Given the description of an element on the screen output the (x, y) to click on. 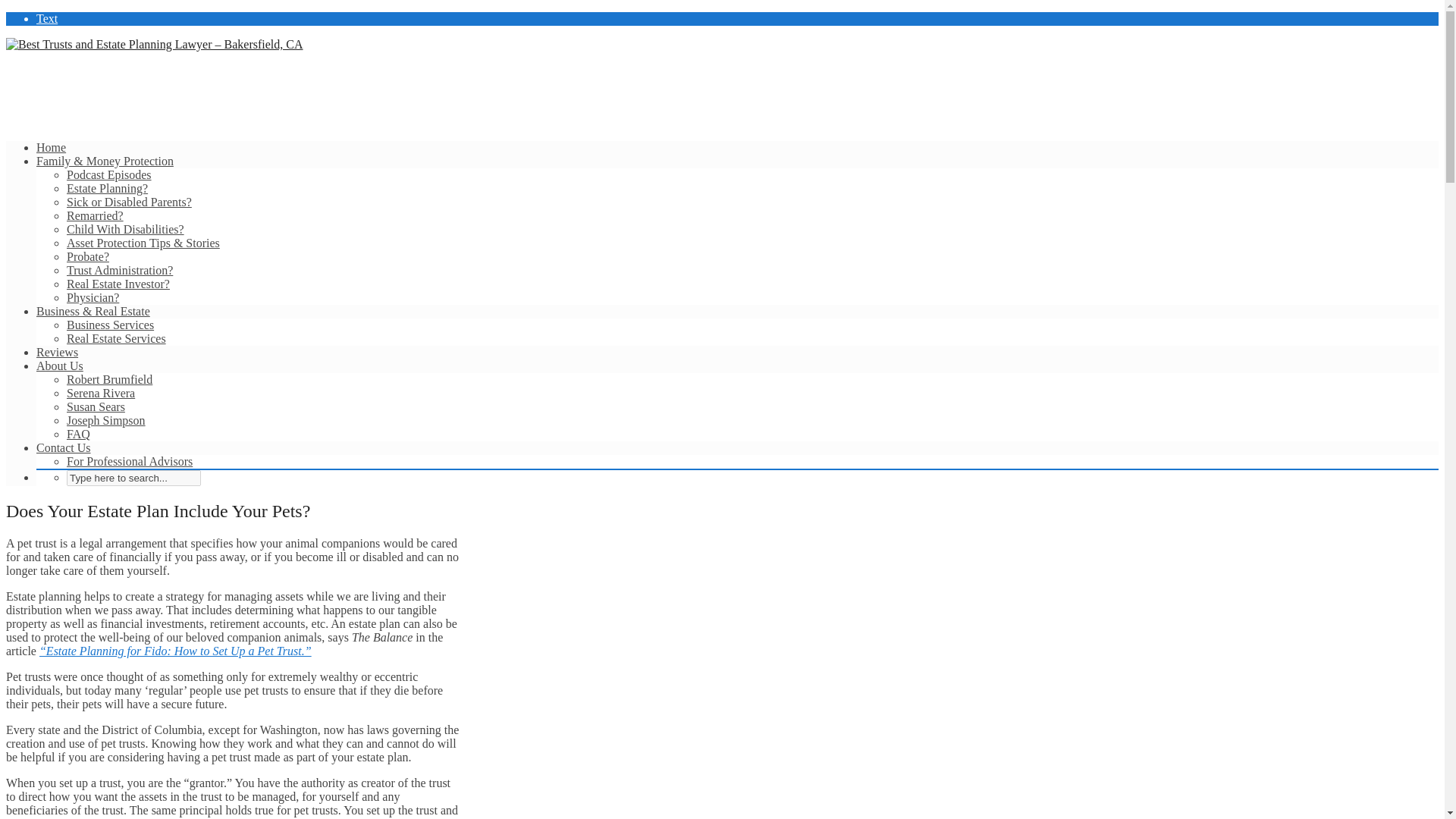
Text (47, 18)
Physician? (92, 297)
FAQ (78, 433)
Reviews (57, 351)
Joseph Simpson (105, 420)
Best Trusts and Estate Planning Lawyer - Bakersfield, CA (153, 43)
Estate Planning? (107, 187)
Type here to search... (133, 478)
Probate? (87, 256)
For Professional Advisors (129, 461)
Contact Us (63, 447)
Susan Sears (95, 406)
About Us (59, 365)
Trust Administration? (119, 269)
Sick or Disabled Parents? (129, 201)
